Given the description of an element on the screen output the (x, y) to click on. 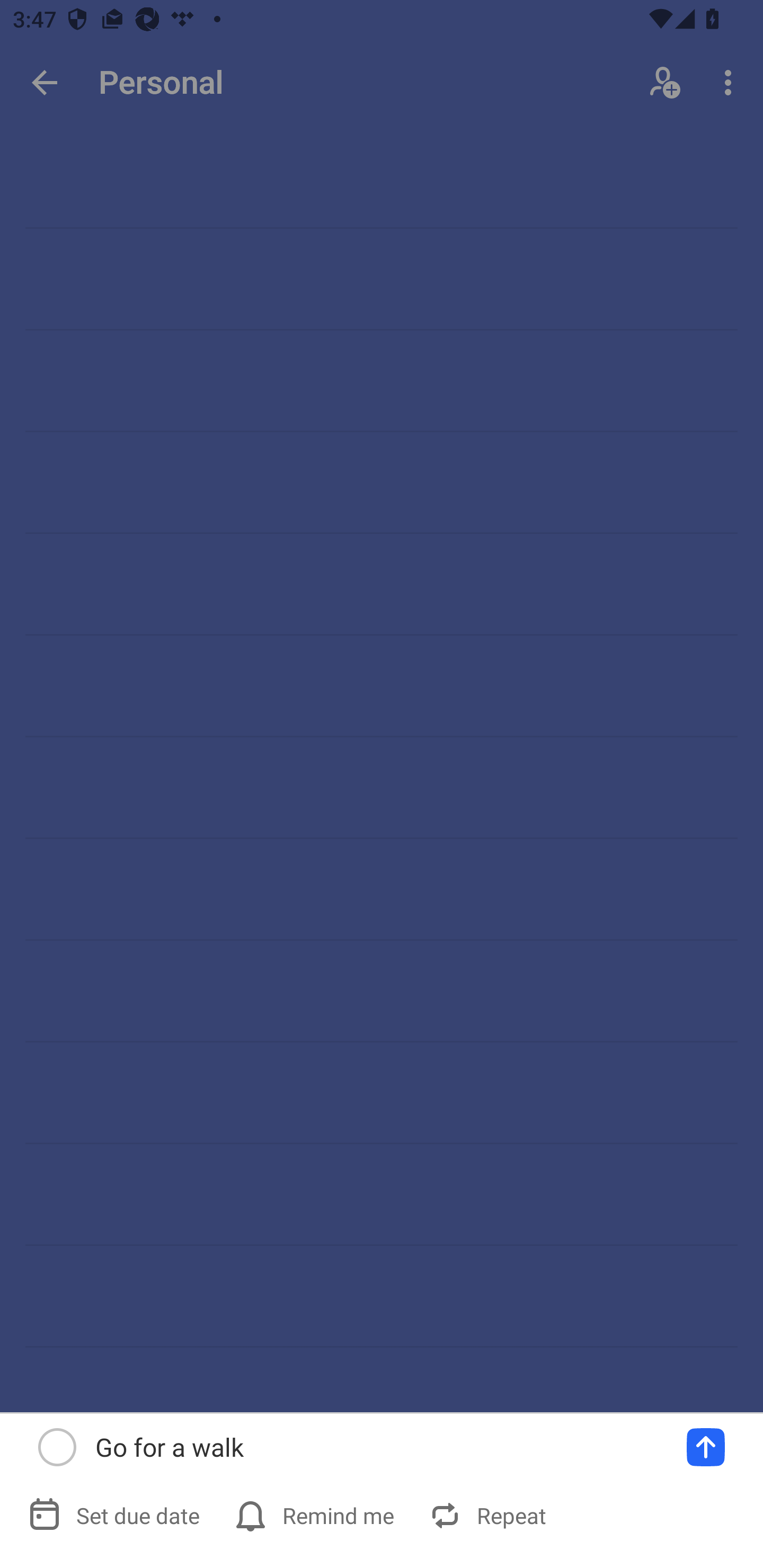
Remind me (315, 1515)
